Given the description of an element on the screen output the (x, y) to click on. 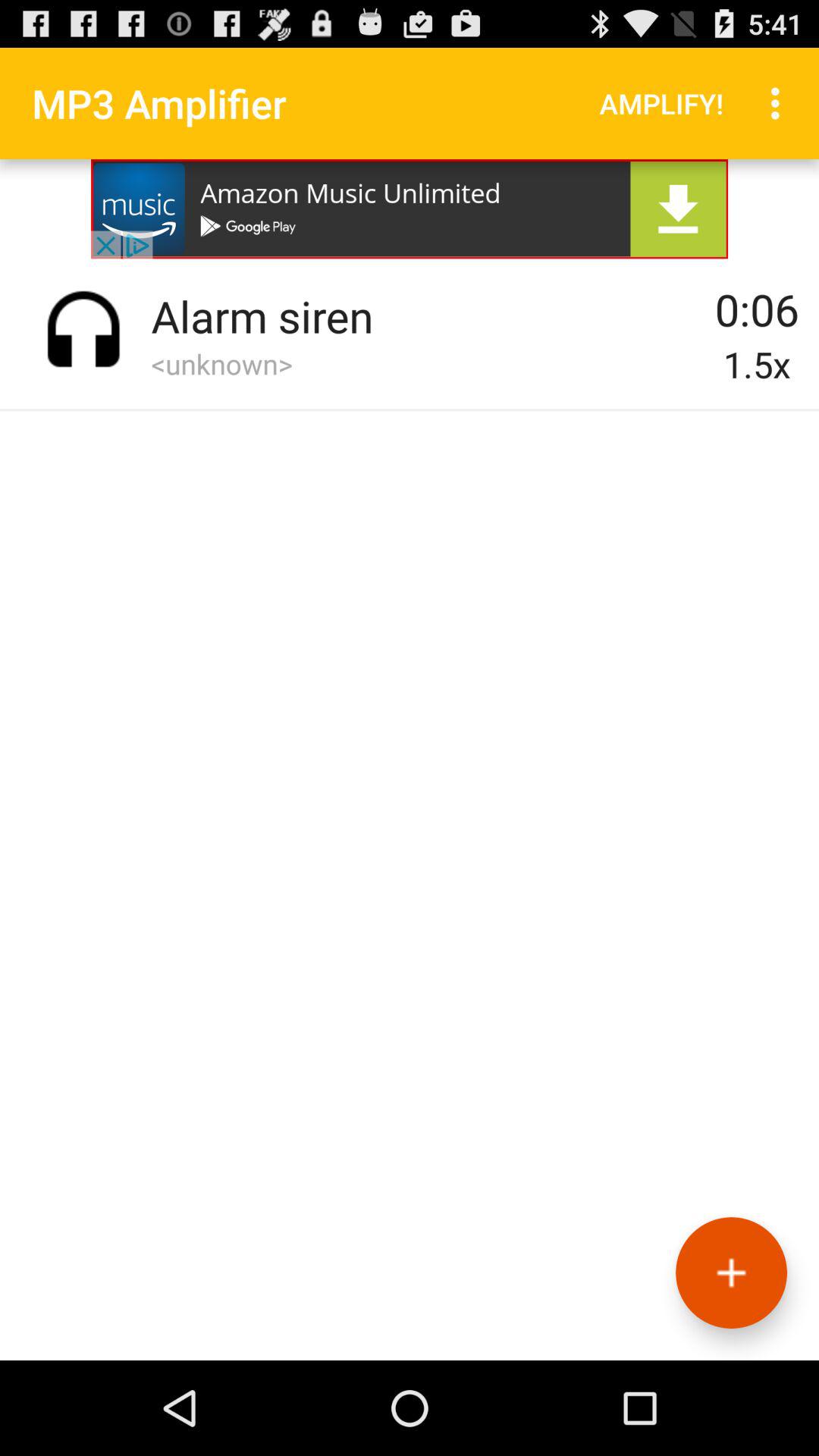
advertisement (409, 208)
